Given the description of an element on the screen output the (x, y) to click on. 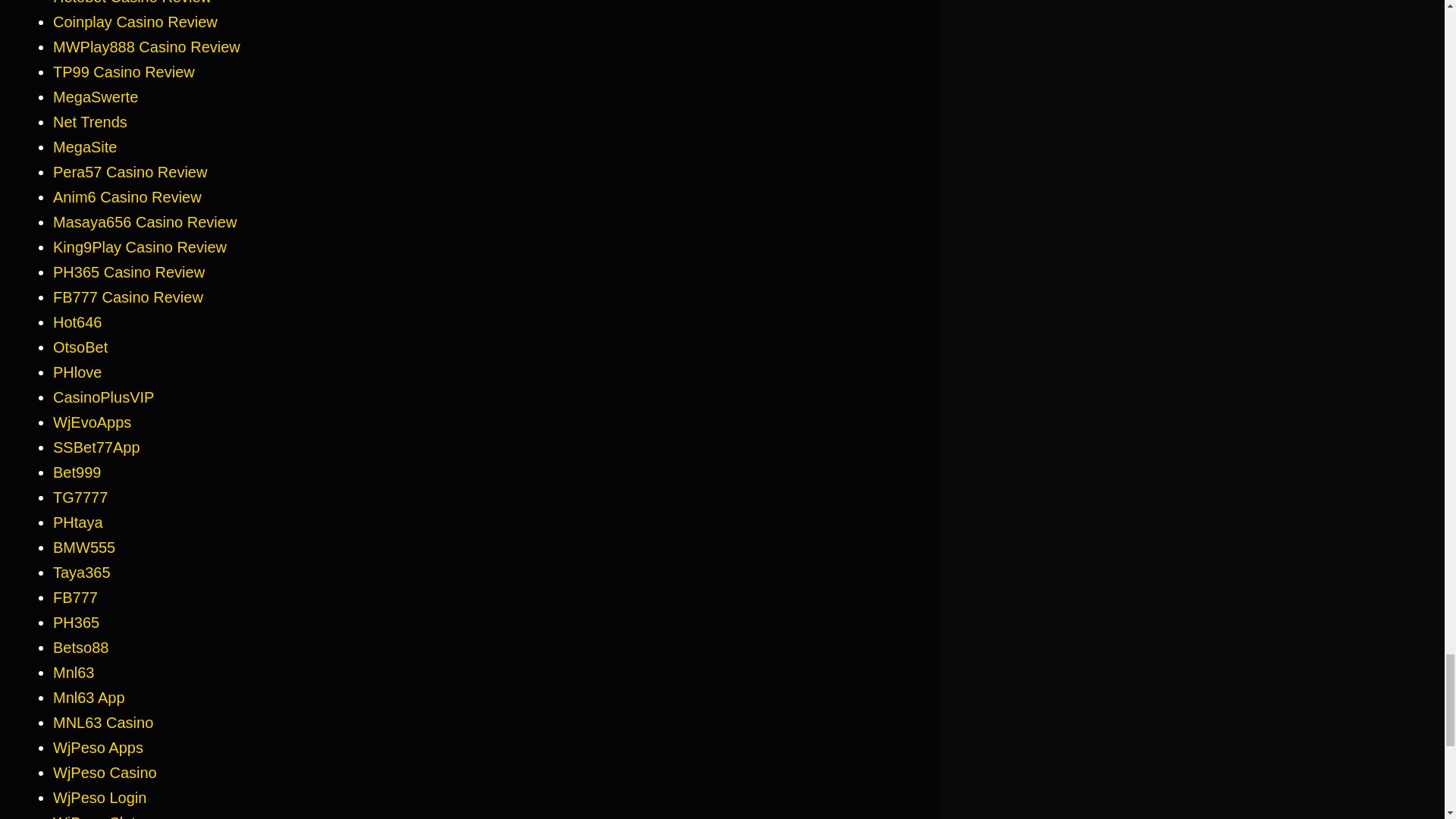
Hetobet Casino Review (131, 2)
